Given the description of an element on the screen output the (x, y) to click on. 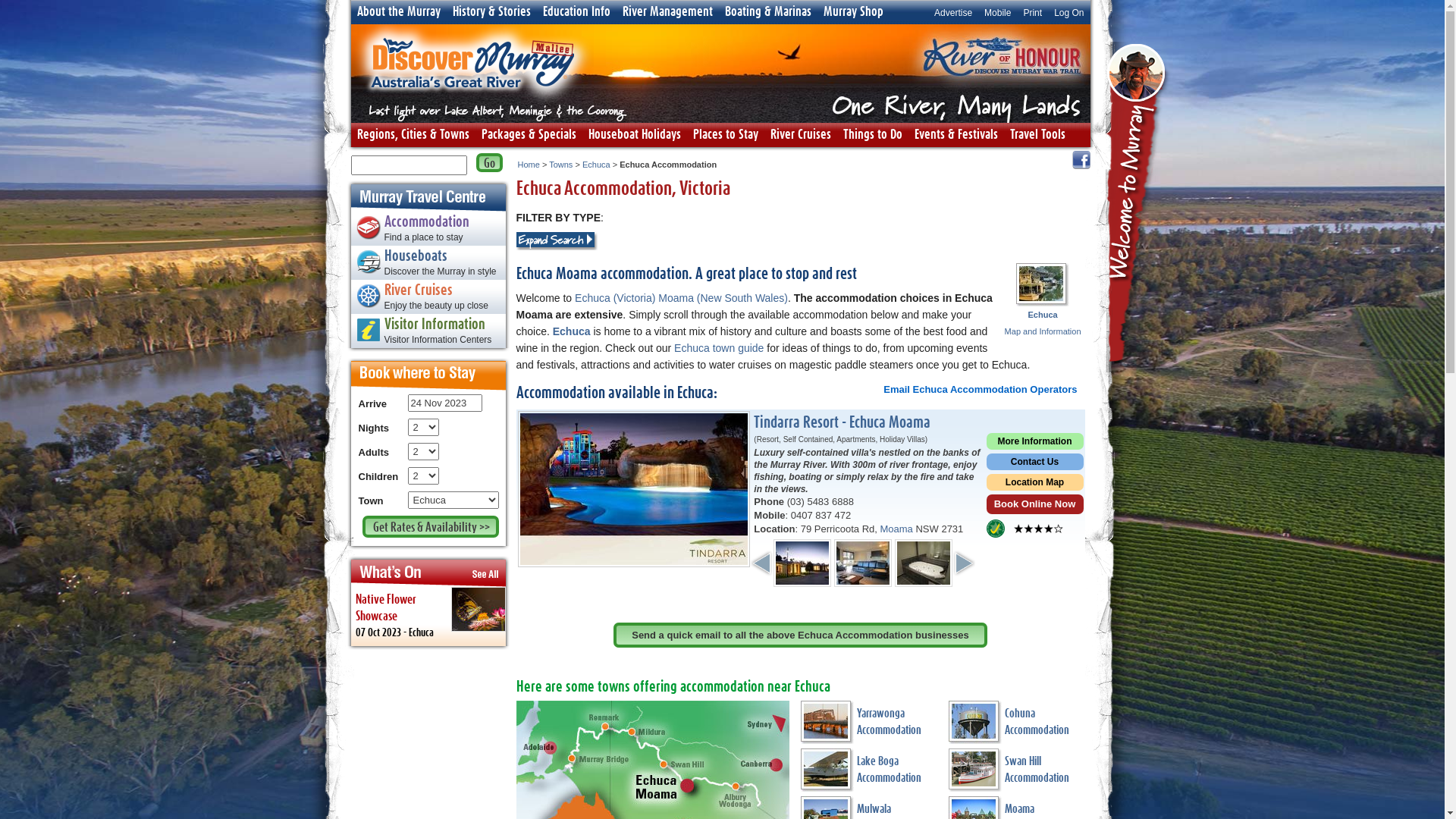
Location Map Element type: text (1033, 483)
About the Murray Element type: text (397, 12)
Events & Festivals Element type: text (956, 134)
Go Element type: text (489, 162)
Education Info Element type: text (576, 12)
Accommodation
Find a place to stay Element type: text (427, 230)
Echuca map and information Element type: hover (1042, 284)
24 Nov 2023 Element type: text (444, 402)
Echuca
Map and Information Element type: text (1042, 322)
Yarrawonga
Accommodation Element type: text (868, 724)
  Element type: text (1138, 206)
Advertise Element type: text (953, 12)
River Management Element type: text (666, 12)
Email Echuca Accommodation Operators Element type: text (979, 389)
Log On Element type: text (1068, 12)
Native Flower Showcase
07 Oct 2023 - Echuca Element type: text (427, 616)
River Cruises
Enjoy the beauty up close Element type: text (427, 298)
Print Element type: text (1032, 12)
Houseboat Holidays Element type: text (634, 134)
River Cruises Element type: text (800, 134)
Boating & Marinas Element type: text (767, 12)
Discover Murray River Homepage Element type: hover (471, 106)
History & Stories Element type: text (490, 12)
Mobile Element type: text (997, 12)
Things to Do Element type: text (872, 134)
Houseboats
Discover the Murray in style Element type: text (427, 264)
Home Element type: text (528, 164)
Towns Element type: text (560, 164)
Cohuna
Accommodation Element type: text (1015, 724)
Regions, Cities & Towns Element type: text (412, 134)
Accredited Tourism Business Element type: hover (994, 528)
Murray Shop Element type: text (853, 12)
Echuca Element type: text (596, 164)
Get Rates & Availability >> Element type: text (430, 526)
Packages & Specials Element type: text (527, 134)
Travel Tools Element type: text (1037, 134)
Tindarra Resort - Echuca Moama Element type: text (841, 422)
Swan Hill
Accommodation Element type: text (1015, 772)
Echuca (Victoria) Moama (New South Wales) Element type: text (680, 297)
More Information Element type: text (1033, 443)
Visitor Information
Visitor Information Centers Element type: text (427, 332)
Echuca town guide Element type: text (718, 348)
Echuca Element type: text (571, 331)
Book Online Now Element type: text (1033, 505)
Moama Element type: text (895, 528)
Lake Boga
Accommodation Element type: text (868, 772)
Places to Stay Element type: text (725, 134)
Search Discover Murray River Element type: hover (489, 162)
Contact Us Element type: text (1033, 463)
